Given the description of an element on the screen output the (x, y) to click on. 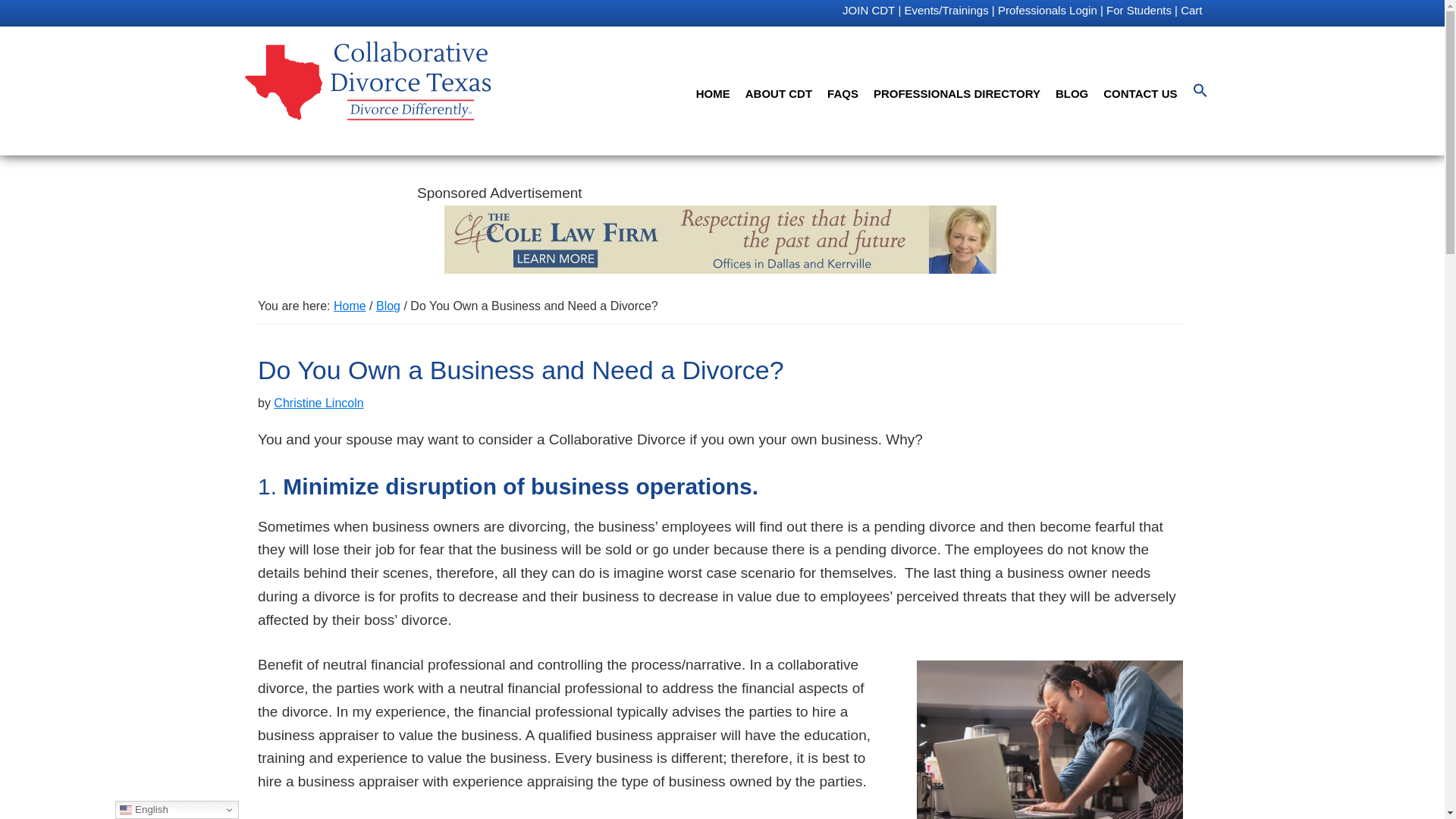
ABOUT CDT (778, 93)
Christine Lincoln (317, 402)
HOME (713, 93)
CONTACT US (1140, 93)
BLOG (1072, 93)
JOIN CDT (869, 10)
Professionals Login (1047, 10)
PROFESSIONALS DIRECTORY (957, 93)
Blog (387, 305)
FAQS (842, 93)
Home (349, 305)
For Students (1139, 10)
Cart (1191, 10)
